Given the description of an element on the screen output the (x, y) to click on. 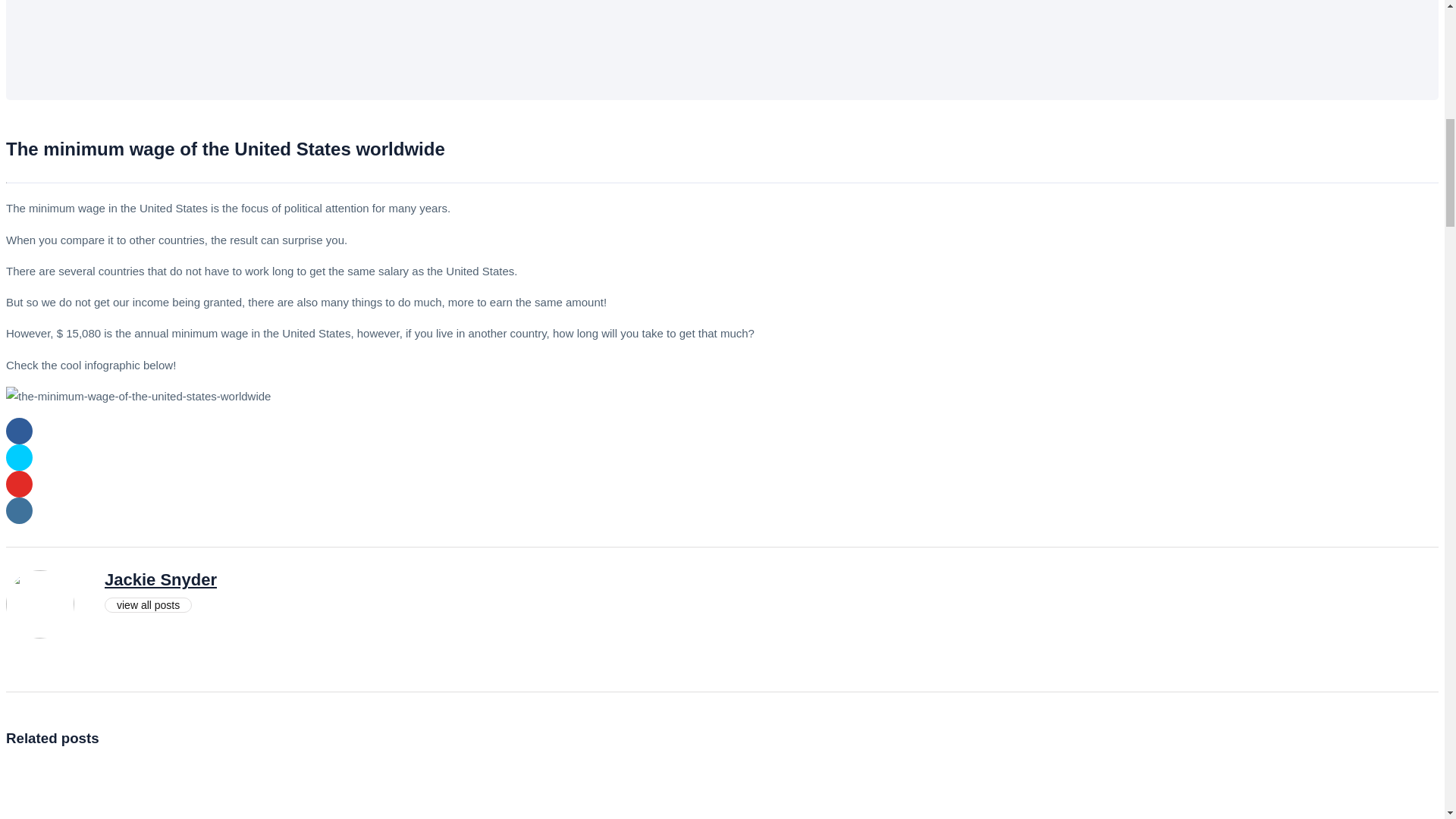
Posts by Jackie Snyder (160, 579)
